Given the description of an element on the screen output the (x, y) to click on. 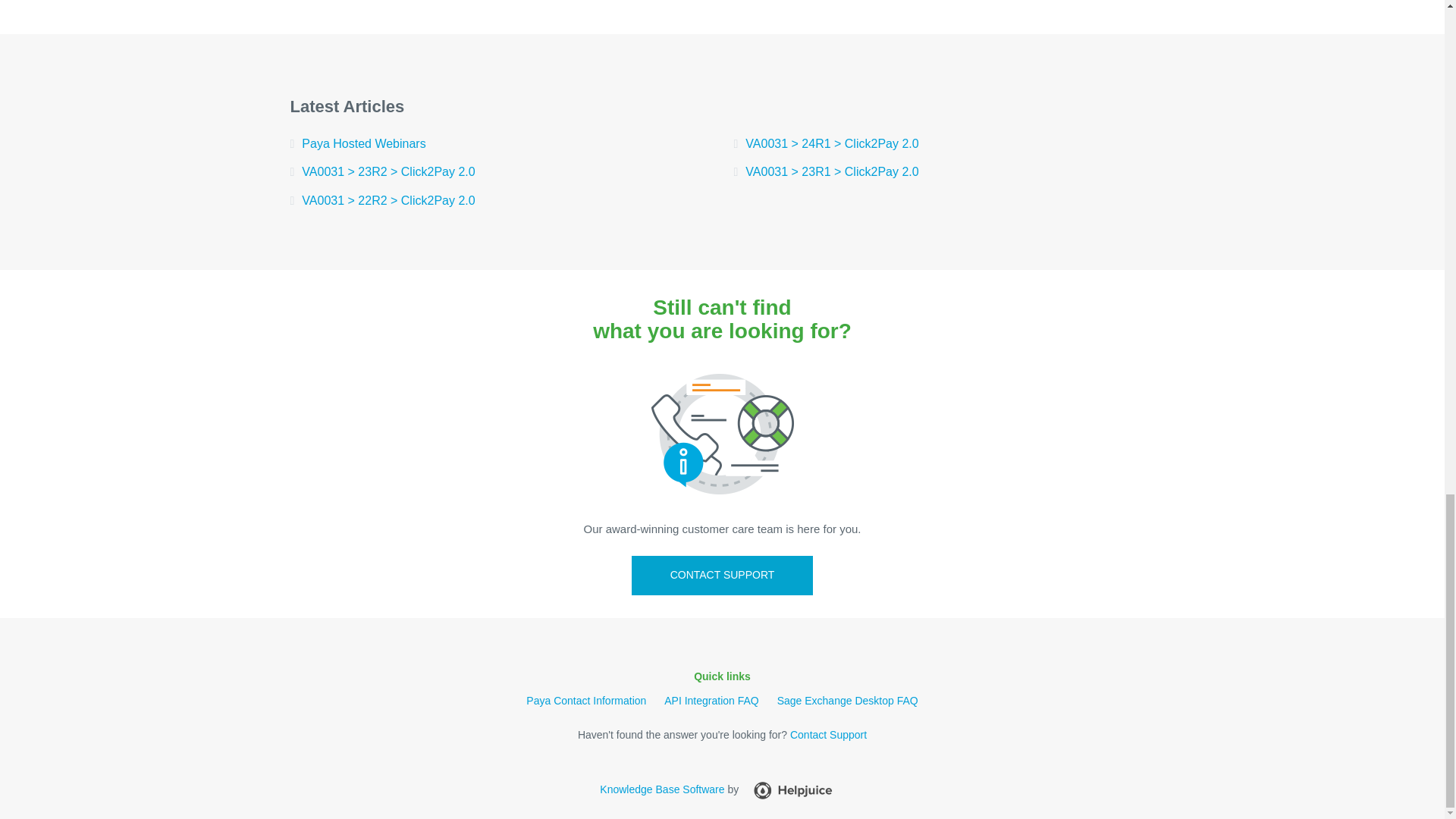
Sage Exchange Desktop FAQ (847, 700)
Knowledge Base Software (661, 789)
API Integration FAQ (710, 700)
CONTACT SUPPORT (722, 575)
Paya Contact Information (585, 700)
Paya Hosted Webinars (500, 144)
Contact Support (828, 734)
